Given the description of an element on the screen output the (x, y) to click on. 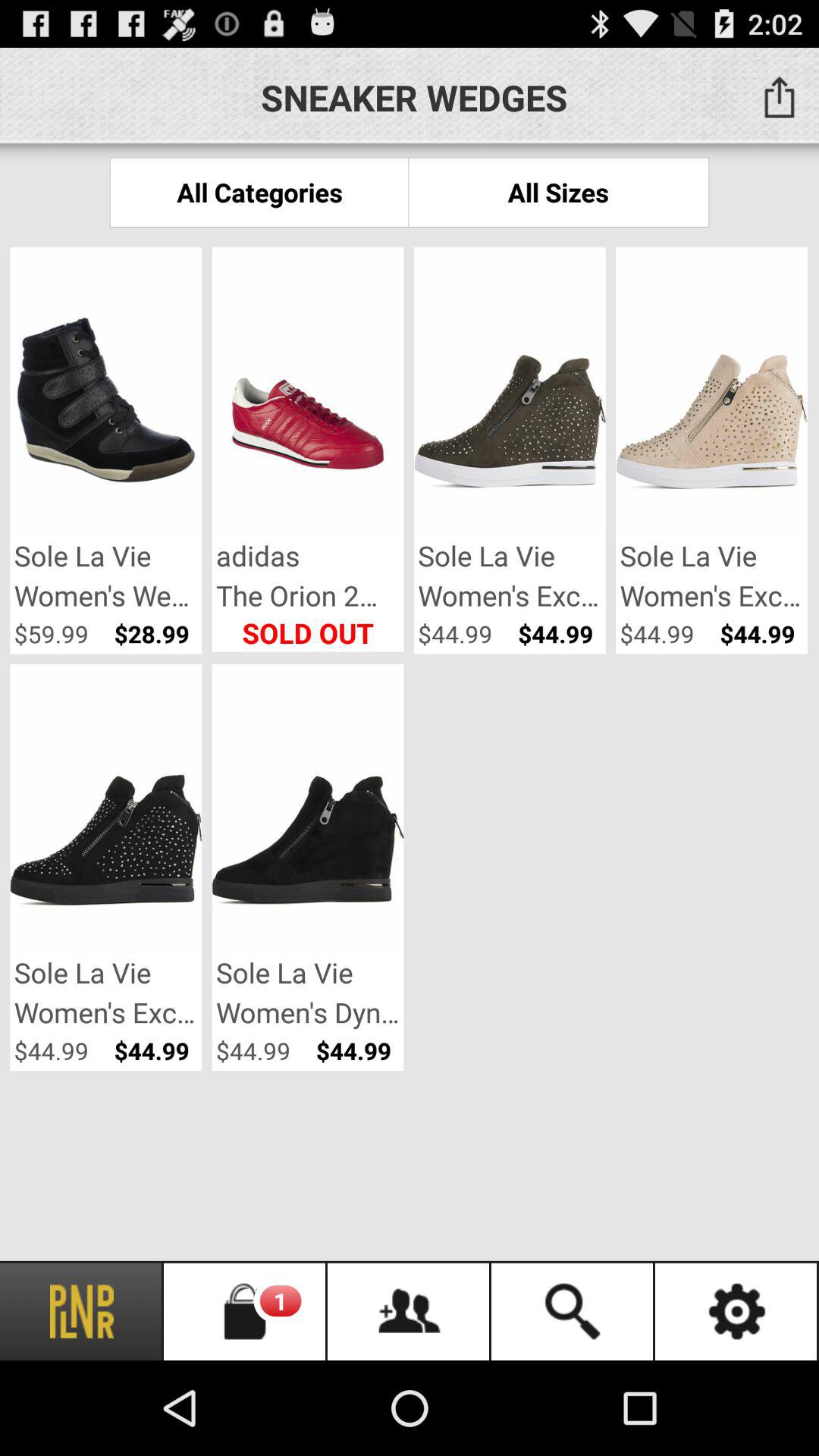
open all sizes (558, 192)
